Given the description of an element on the screen output the (x, y) to click on. 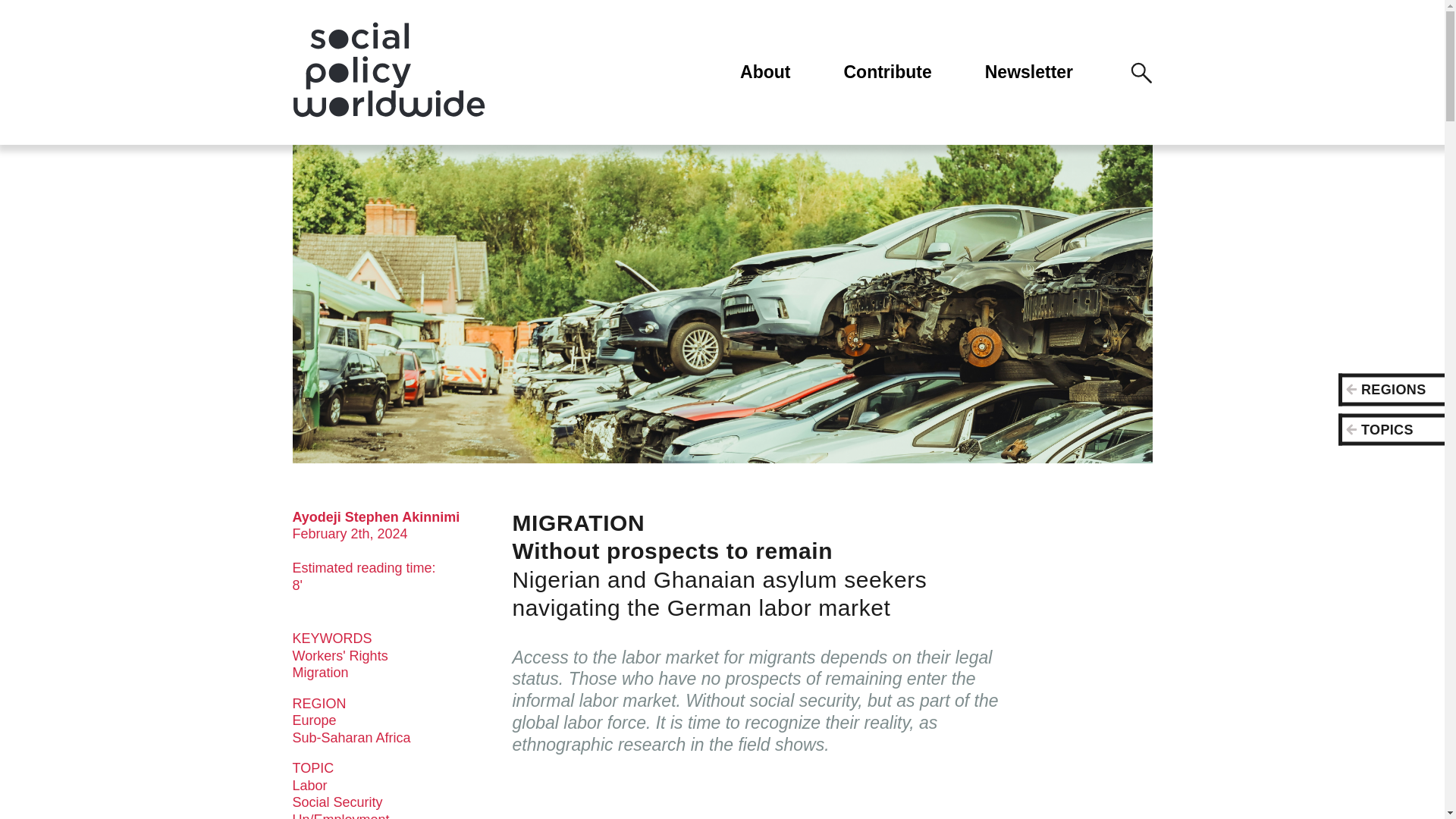
Contribute (887, 71)
Newsletter (1029, 71)
About (764, 71)
